Given the description of an element on the screen output the (x, y) to click on. 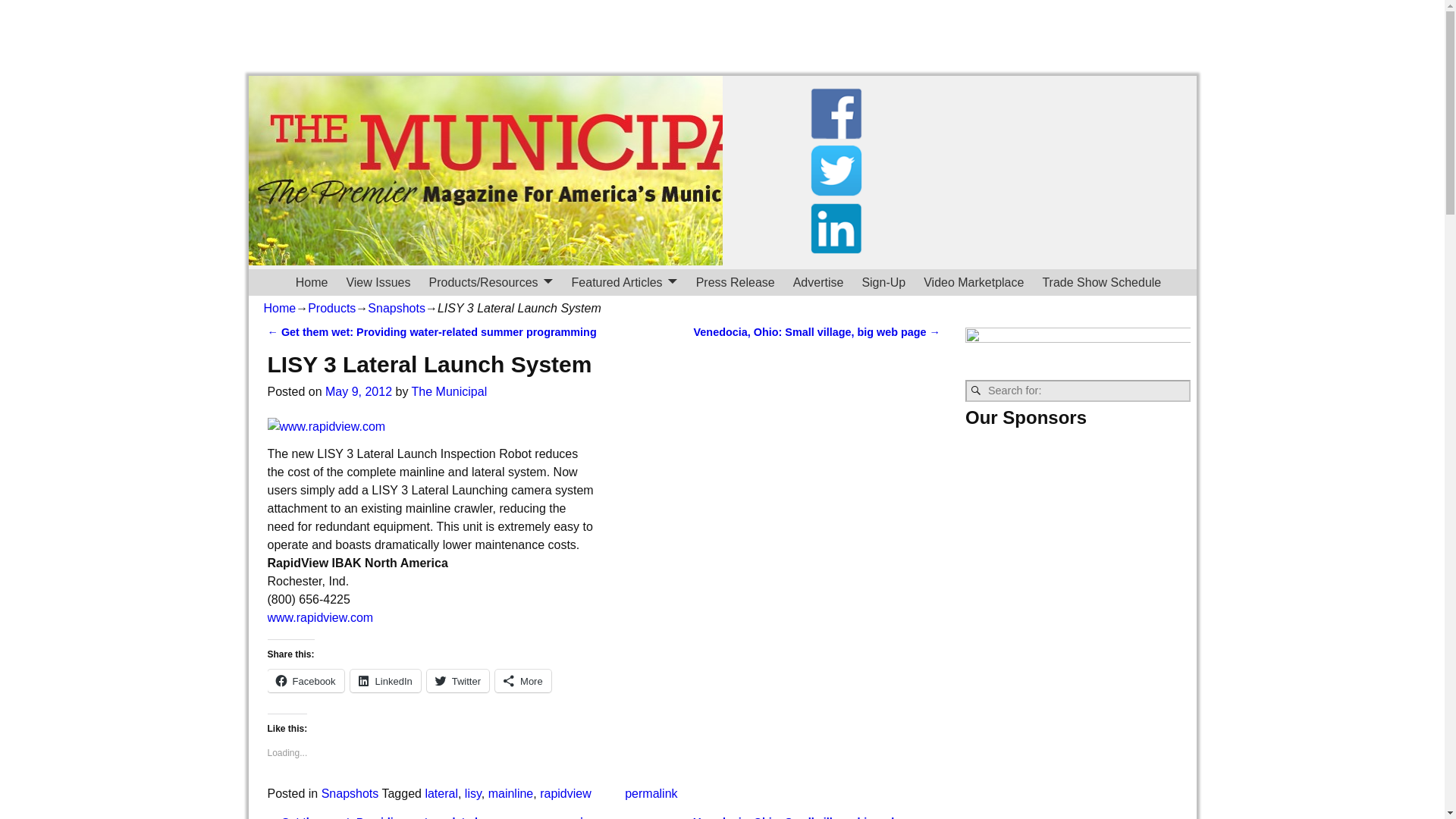
Click to share on LinkedIn (385, 680)
View Issues (377, 282)
Snapshots (396, 308)
Click to share on Facebook (304, 680)
Advertise (818, 282)
May 9, 2012 (357, 391)
View all posts by The Municipal (449, 391)
The Municipal (449, 391)
www.rapidview.com (319, 617)
Video Marketplace (973, 282)
7:52 am (357, 391)
Sign-Up (882, 282)
Home (311, 282)
Trade Show Schedule (1101, 282)
Press Release (735, 282)
